Given the description of an element on the screen output the (x, y) to click on. 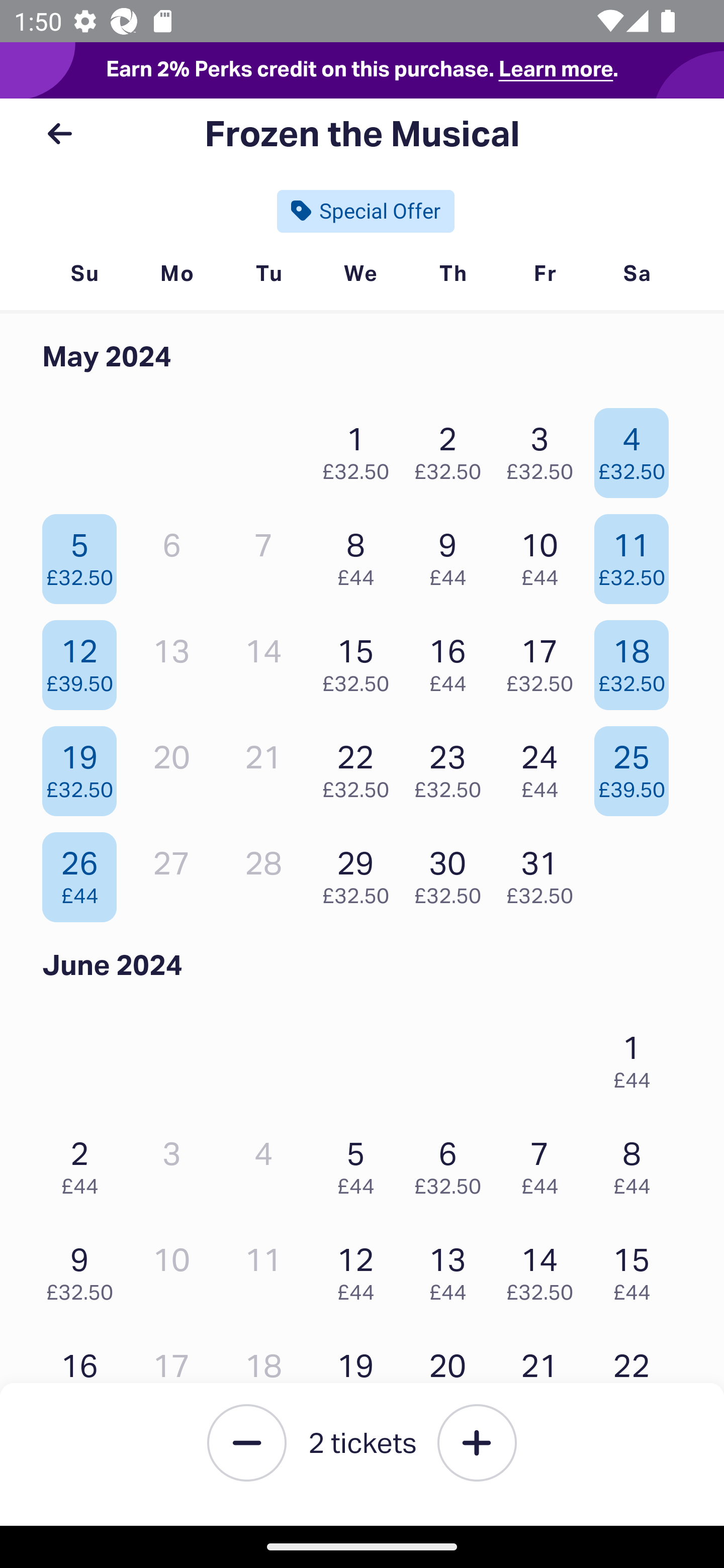
Earn 2% Perks credit on this purchase. Learn more. (362, 70)
back button (59, 133)
Special Offer (365, 210)
1 £32.50 (360, 448)
2 £32.50 (452, 448)
3 £32.50 (544, 448)
4 £32.50 (636, 448)
5 £32.50 (84, 553)
8 £44 (360, 553)
9 £44 (452, 553)
10 £44 (544, 553)
11 £32.50 (636, 553)
12 £39.50 (84, 660)
15 £32.50 (360, 660)
16 £44 (452, 660)
17 £32.50 (544, 660)
18 £32.50 (636, 660)
19 £32.50 (84, 766)
22 £32.50 (360, 766)
23 £32.50 (452, 766)
24 £44 (544, 766)
25 £39.50 (636, 766)
26 £44 (84, 872)
29 £32.50 (360, 872)
30 £32.50 (452, 872)
31 £32.50 (544, 872)
1 £44 (636, 1057)
2 £44 (84, 1162)
5 £44 (360, 1162)
6 £32.50 (452, 1162)
7 £44 (544, 1162)
8 £44 (636, 1162)
9 £32.50 (84, 1268)
12 £44 (360, 1268)
13 £44 (452, 1268)
14 £32.50 (544, 1268)
15 £44 (636, 1268)
16 £32.50 (84, 1375)
19 £44 (360, 1375)
20 £32.50 (452, 1375)
21 £32.50 (544, 1375)
22 £32.50 (636, 1375)
